Given the description of an element on the screen output the (x, y) to click on. 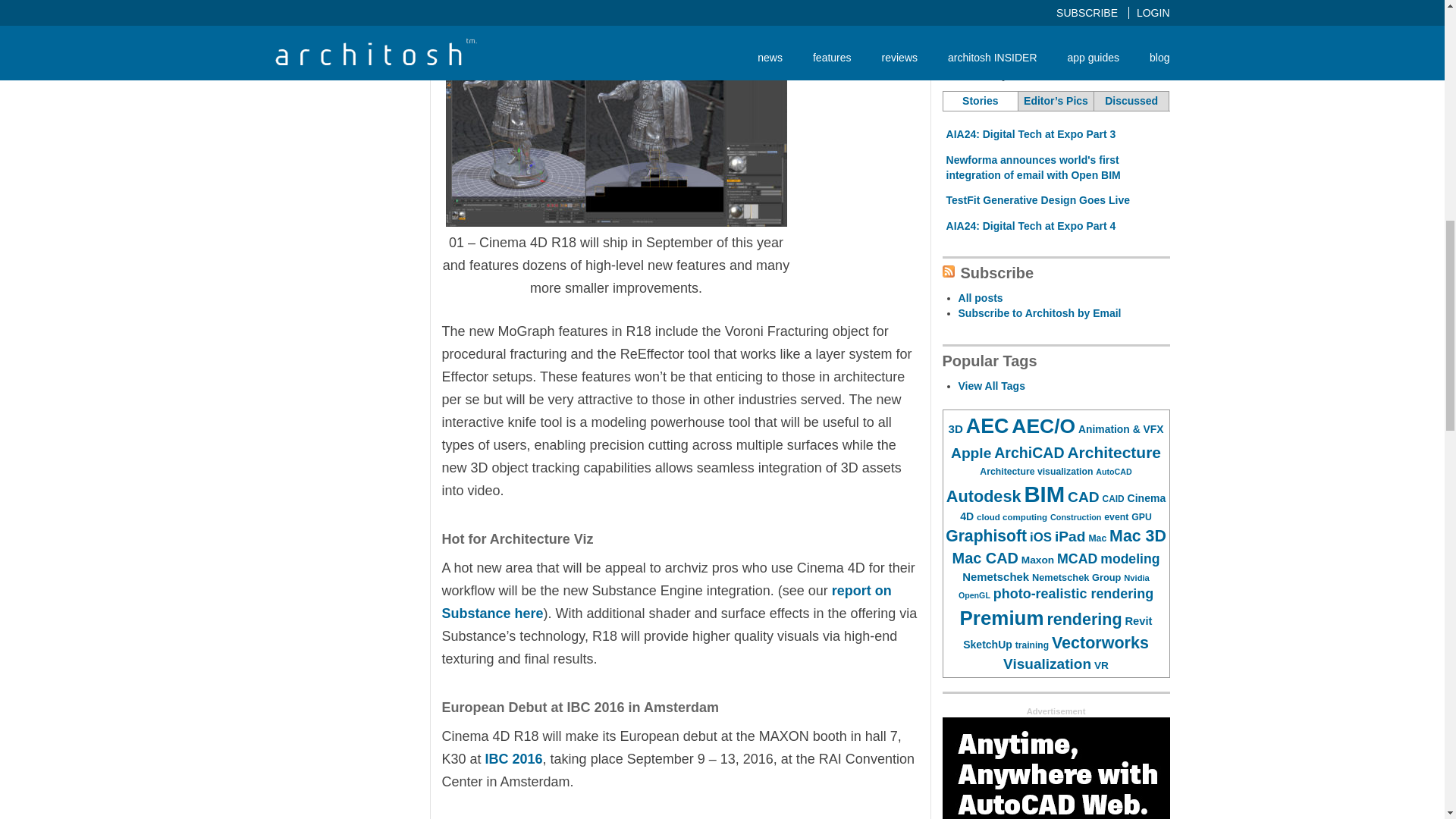
report on Substance here (666, 601)
IBC 2016 (513, 758)
